Given the description of an element on the screen output the (x, y) to click on. 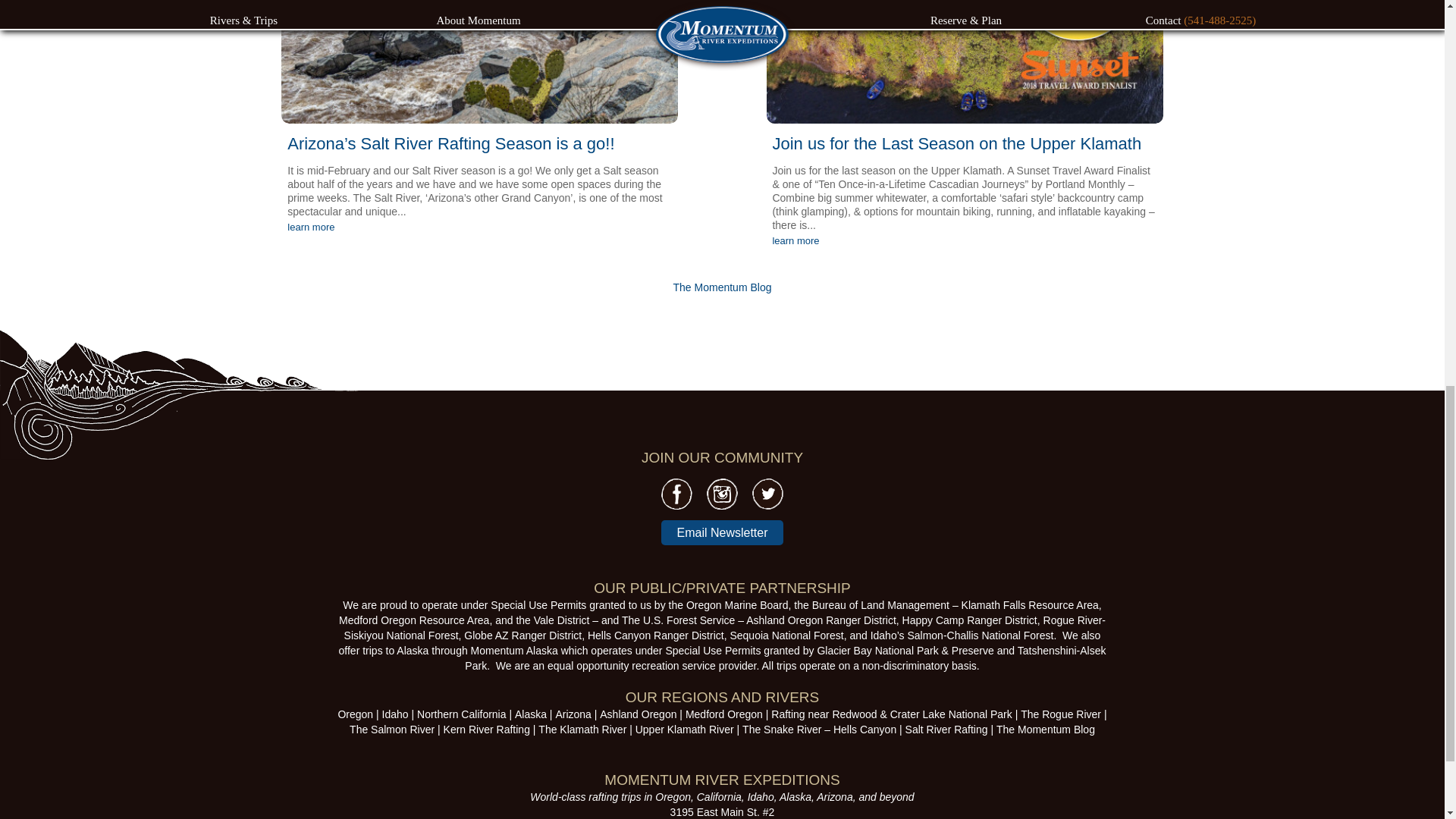
instagram-icon (722, 493)
twitter-icon (767, 493)
facebook-c (676, 494)
